Given the description of an element on the screen output the (x, y) to click on. 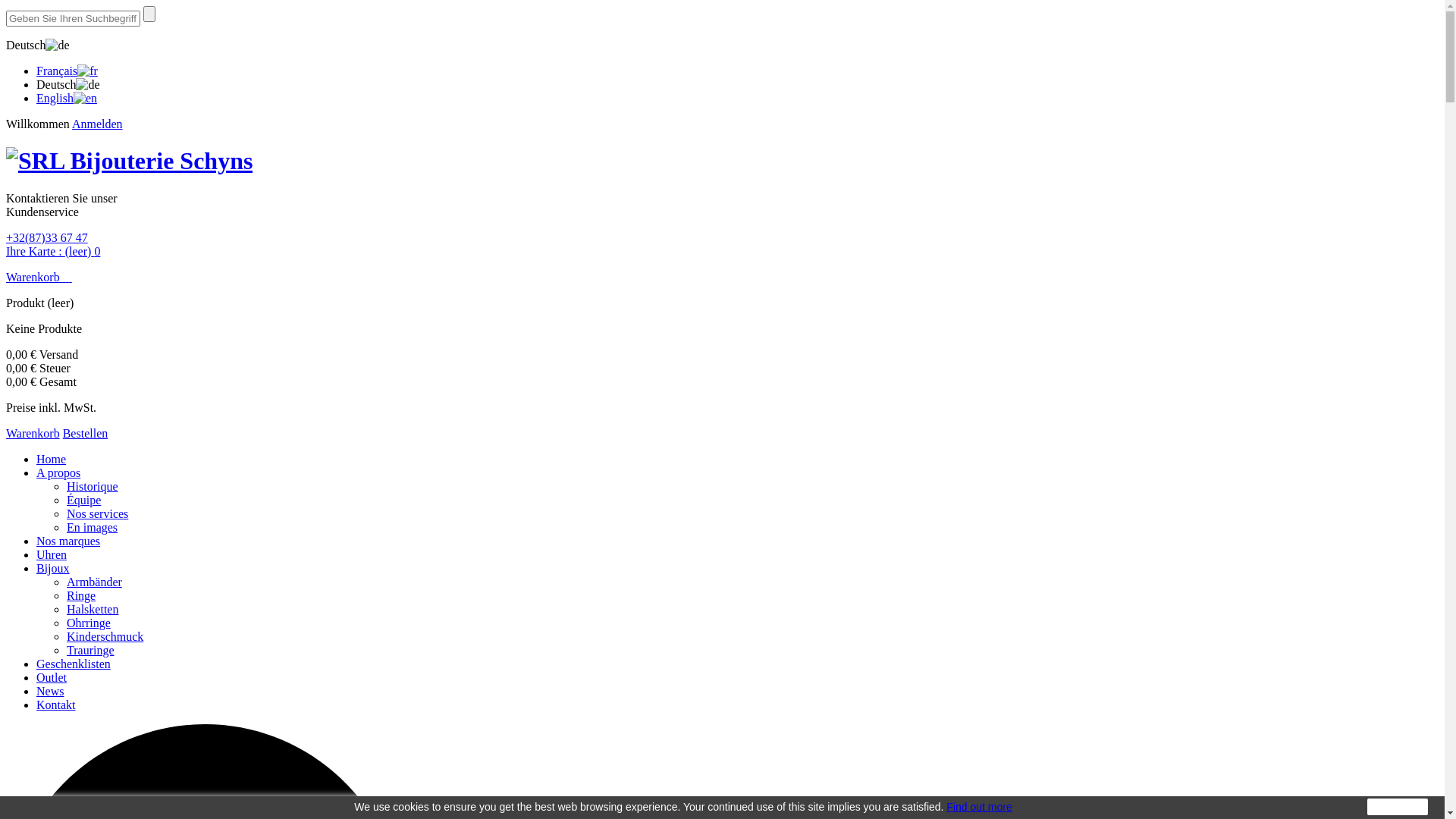
Uhren Element type: text (51, 554)
Halsketten Element type: text (92, 608)
Ringe Element type: text (80, 595)
Anmelden Element type: text (97, 123)
Home Element type: text (50, 458)
Ihre Karte : (leer) 0 Element type: text (53, 250)
A propos Element type: text (58, 472)
Find out more Element type: text (978, 806)
SRL Bijouterie Schyns Element type: hover (129, 160)
Trauringe Element type: text (90, 649)
Warenkorb Element type: text (32, 432)
Nos services Element type: text (97, 513)
En images Element type: text (91, 526)
Warenkorb     Element type: text (39, 276)
Kontakt Element type: text (55, 704)
Geschenklisten Element type: text (73, 663)
English Element type: text (66, 97)
Bestellen Element type: text (85, 432)
Kinderschmuck Element type: text (104, 636)
News Element type: text (49, 690)
Historique Element type: text (92, 486)
close Element type: text (1397, 806)
Nos marques Element type: text (68, 540)
Bijoux Element type: text (52, 567)
Outlet Element type: text (51, 677)
Ohrringe Element type: text (88, 622)
+32(87)33 67 47 Element type: text (46, 237)
